Given the description of an element on the screen output the (x, y) to click on. 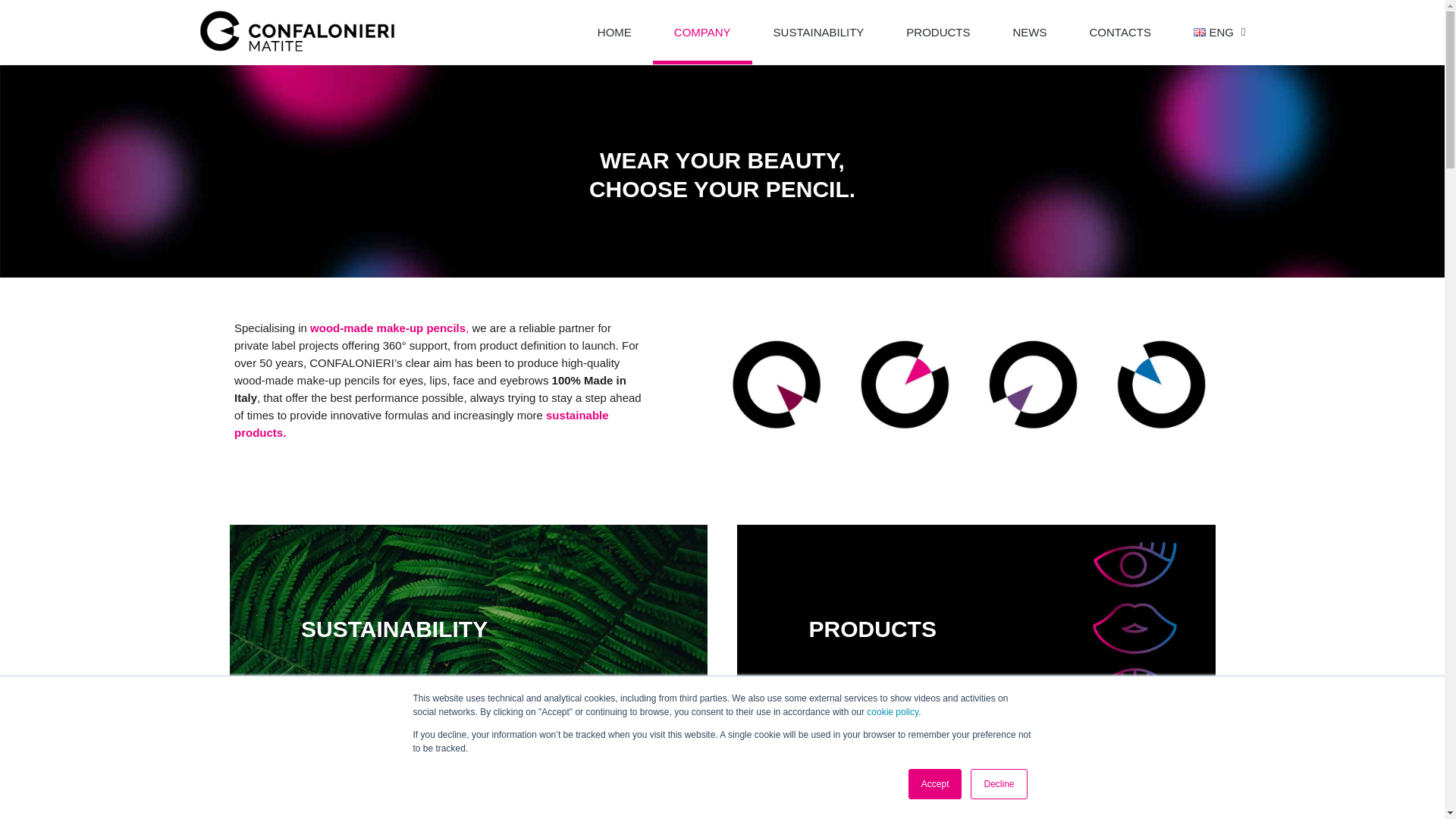
Accept (935, 784)
COMPANY (702, 31)
ENG (1213, 31)
HOME (614, 31)
CONTACTS (1119, 31)
SUSTAINABILITY (818, 31)
Decline (998, 784)
cookie policy (892, 711)
PRODUCTS (938, 31)
NEWS (1029, 31)
